Given the description of an element on the screen output the (x, y) to click on. 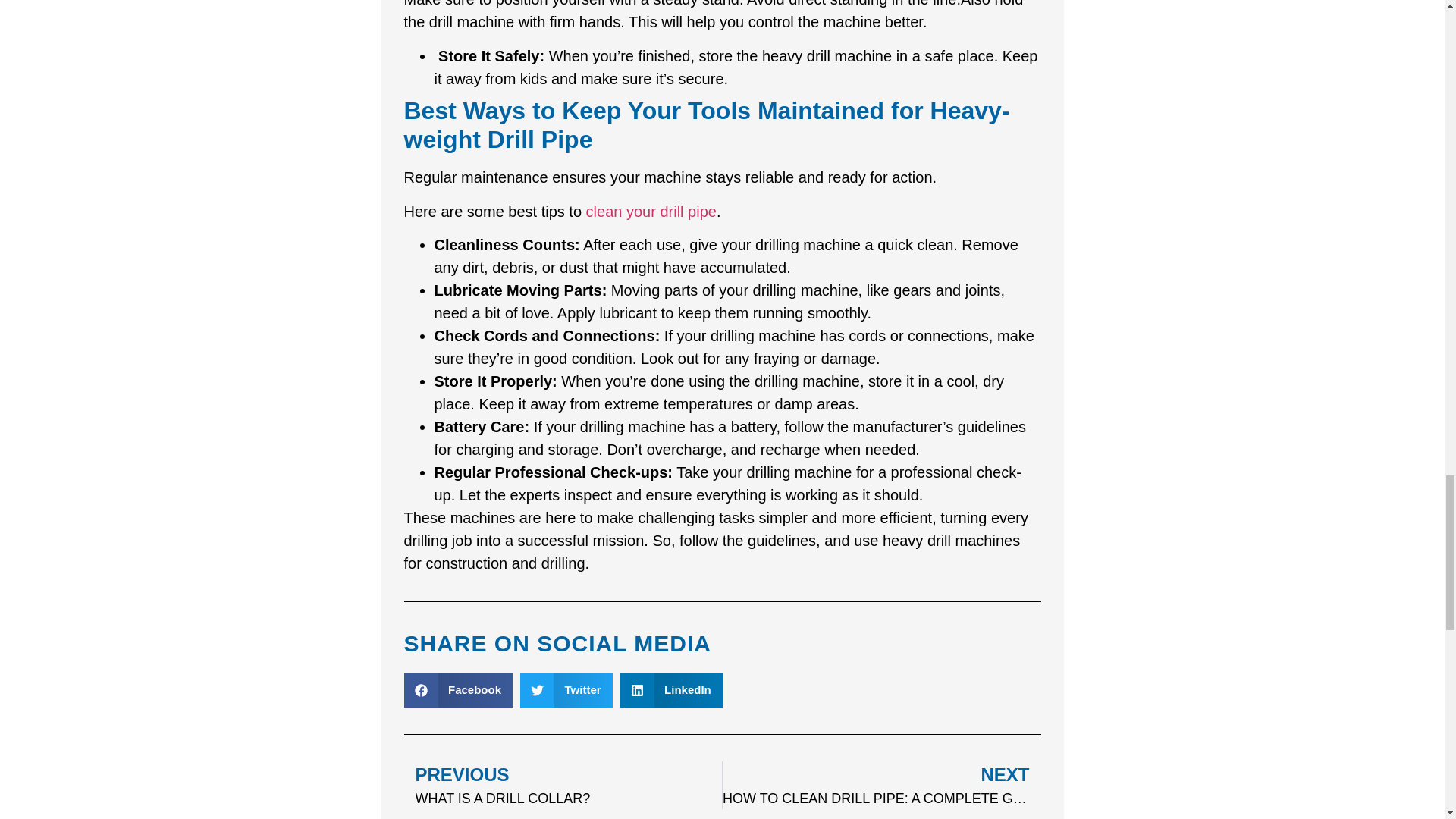
clean your drill pipe (651, 211)
